Given the description of an element on the screen output the (x, y) to click on. 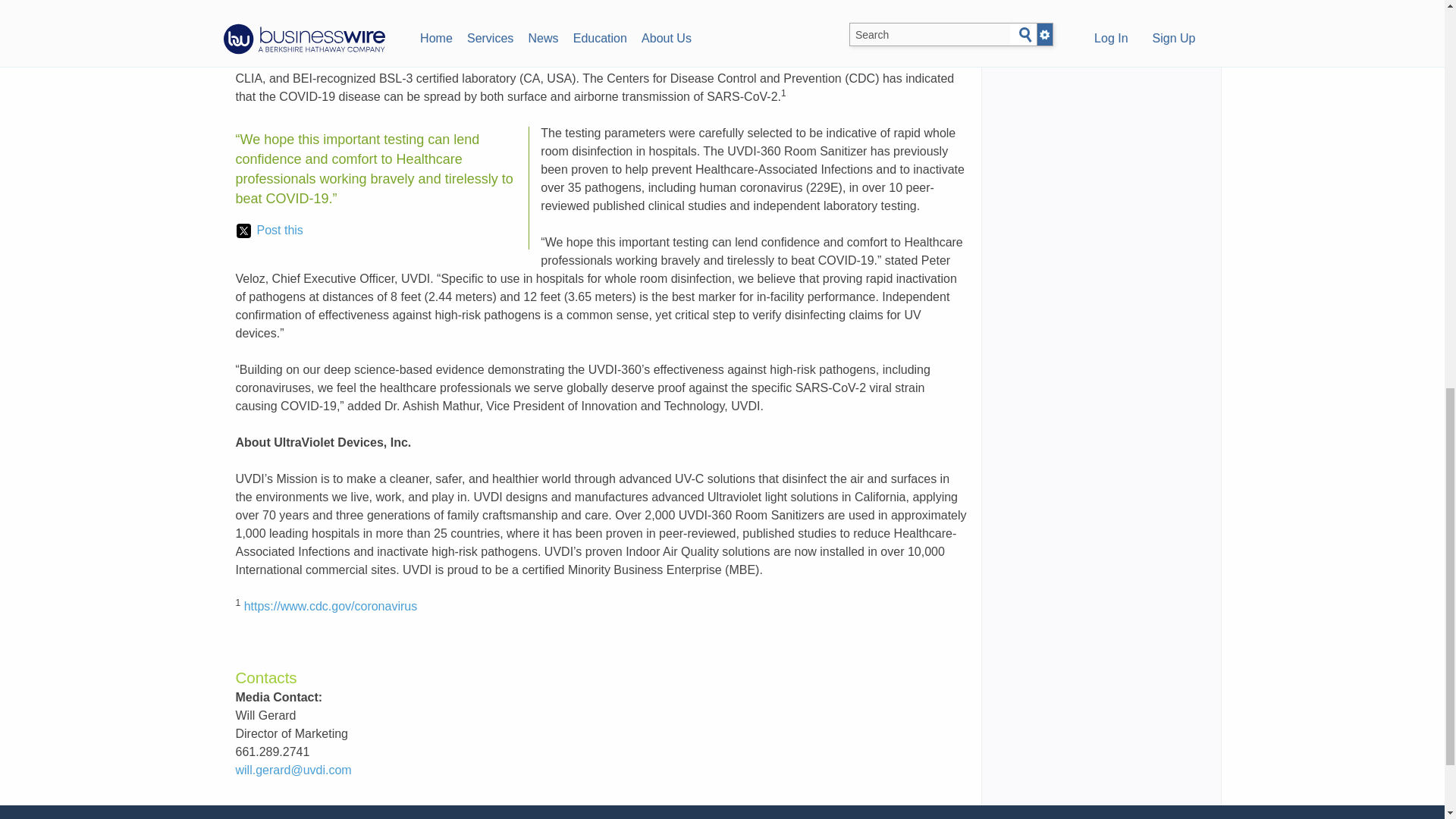
BUSINESS WIRE (389, 23)
Post this (269, 230)
